Given the description of an element on the screen output the (x, y) to click on. 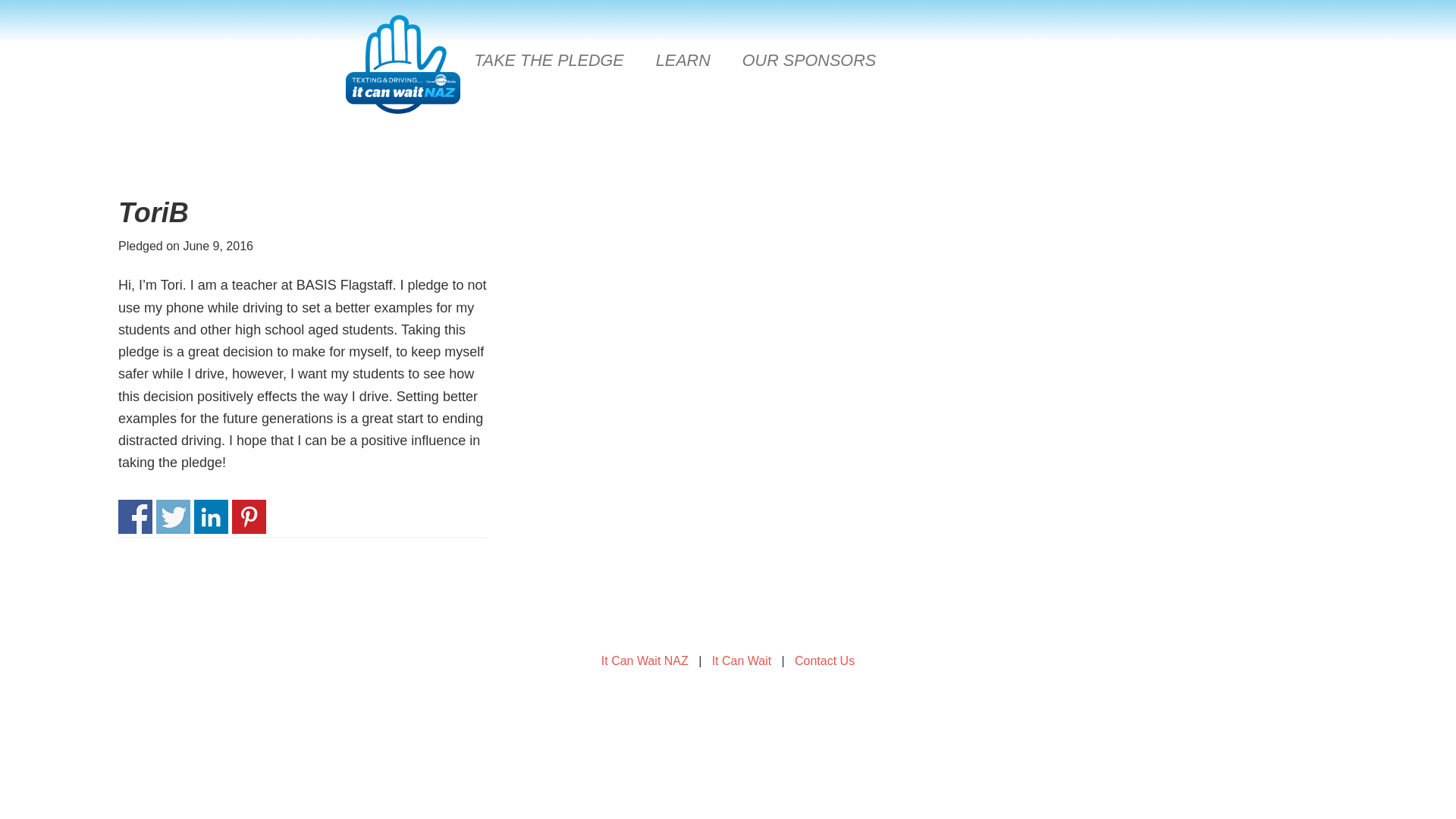
Contact Us (824, 660)
Share on Twitter (172, 516)
LEARN (682, 59)
Share on Facebook (134, 516)
It Can Wait (741, 660)
Share on Pinterest (248, 516)
TAKE THE PLEDGE (548, 59)
OUR SPONSORS (809, 59)
It Can Wait NAZ (644, 660)
Share on Linkedin (210, 516)
